Given the description of an element on the screen output the (x, y) to click on. 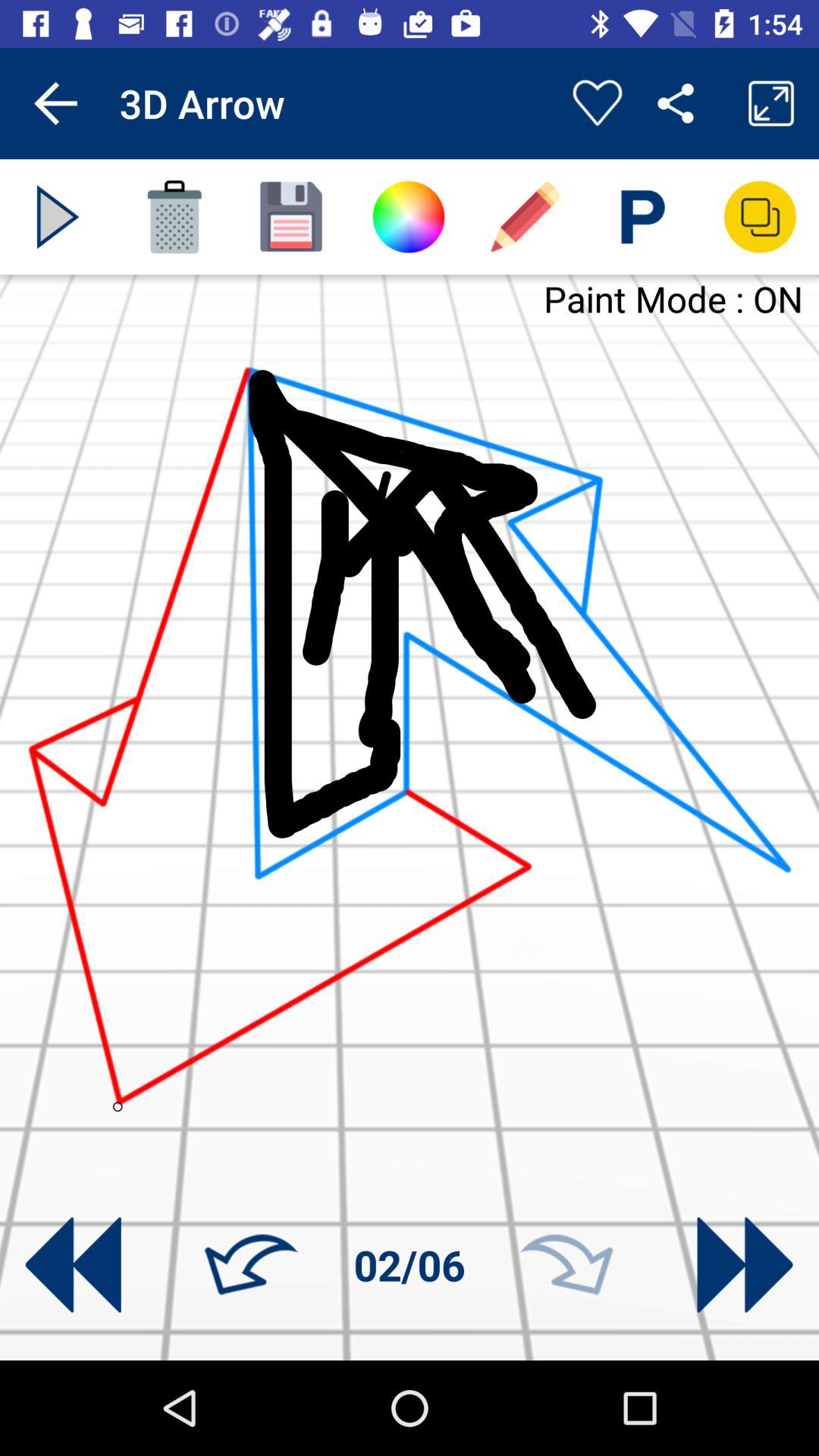
change window (759, 216)
